Given the description of an element on the screen output the (x, y) to click on. 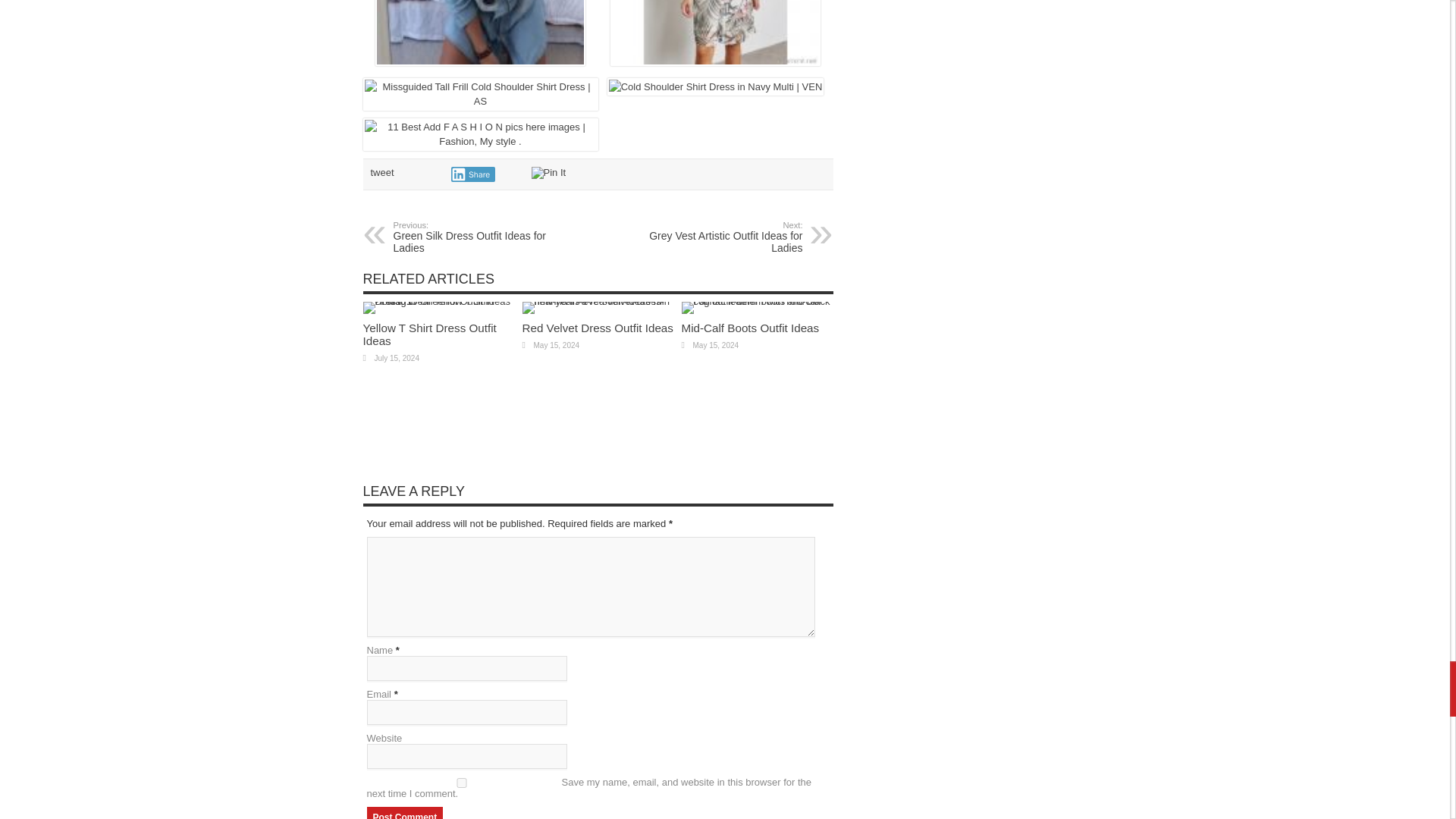
Red Velvet Dress Outfit Ideas (596, 327)
Share (429, 334)
Permalink to Red Velvet Dress Outfit Ideas (710, 236)
Permalink to Red Velvet Dress Outfit Ideas (472, 174)
Permalink to Mid-Calf Boots Outfit Ideas (596, 327)
Yellow T Shirt Dress Outfit Ideas (596, 301)
Post Comment (756, 301)
tweet (429, 334)
Pin It (437, 301)
Mid-Calf Boots Outfit Ideas (405, 812)
Post Comment (381, 172)
